Given the description of an element on the screen output the (x, y) to click on. 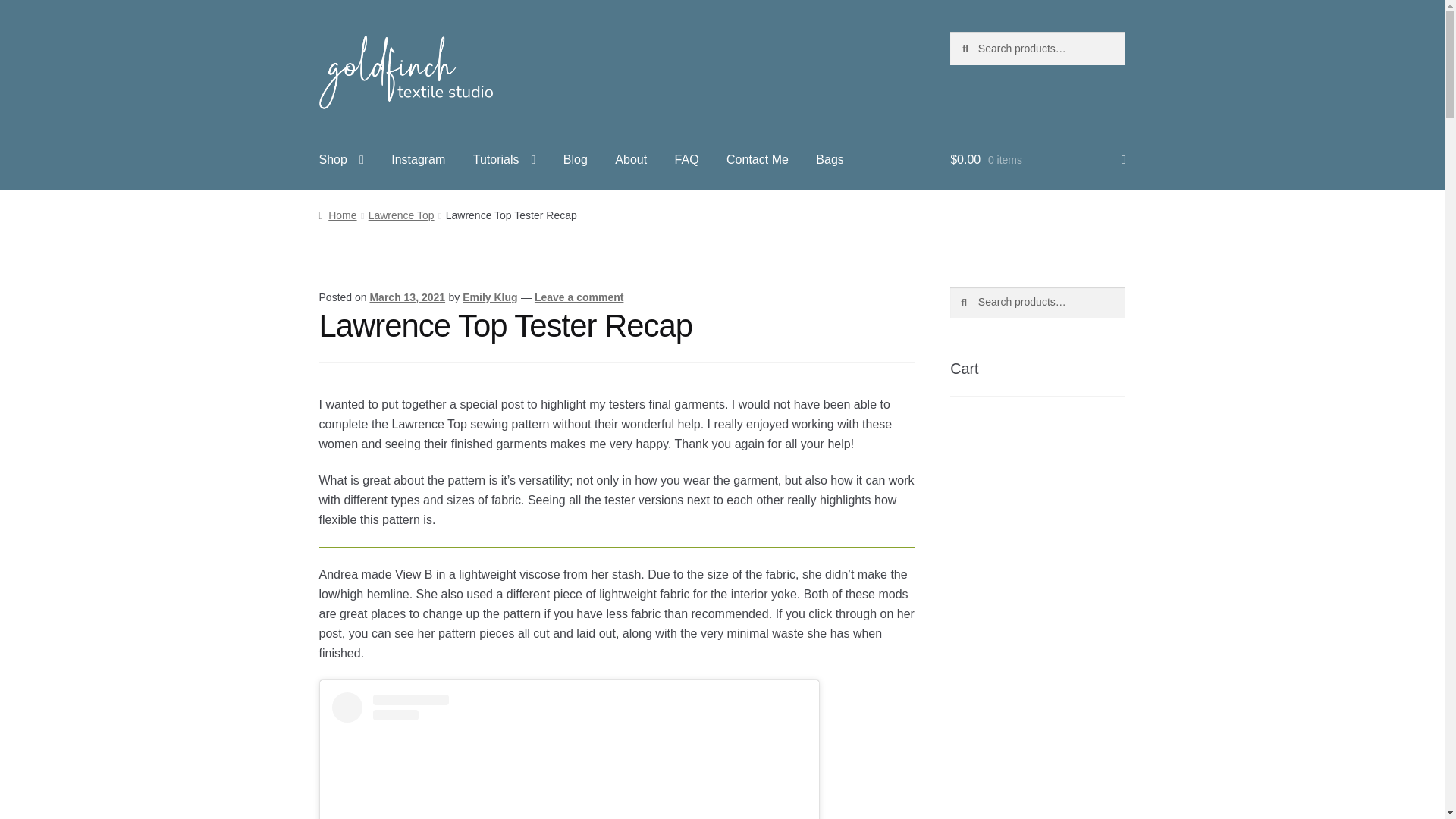
View your shopping cart (1037, 159)
Lawrence Top (400, 215)
Bags (829, 159)
View this post on Instagram (568, 755)
FAQ (686, 159)
Tutorials (504, 159)
Contact Me (757, 159)
Home (337, 215)
Emily Klug (489, 297)
Instagram (417, 159)
March 13, 2021 (407, 297)
Blog (575, 159)
Shop (341, 159)
